Given the description of an element on the screen output the (x, y) to click on. 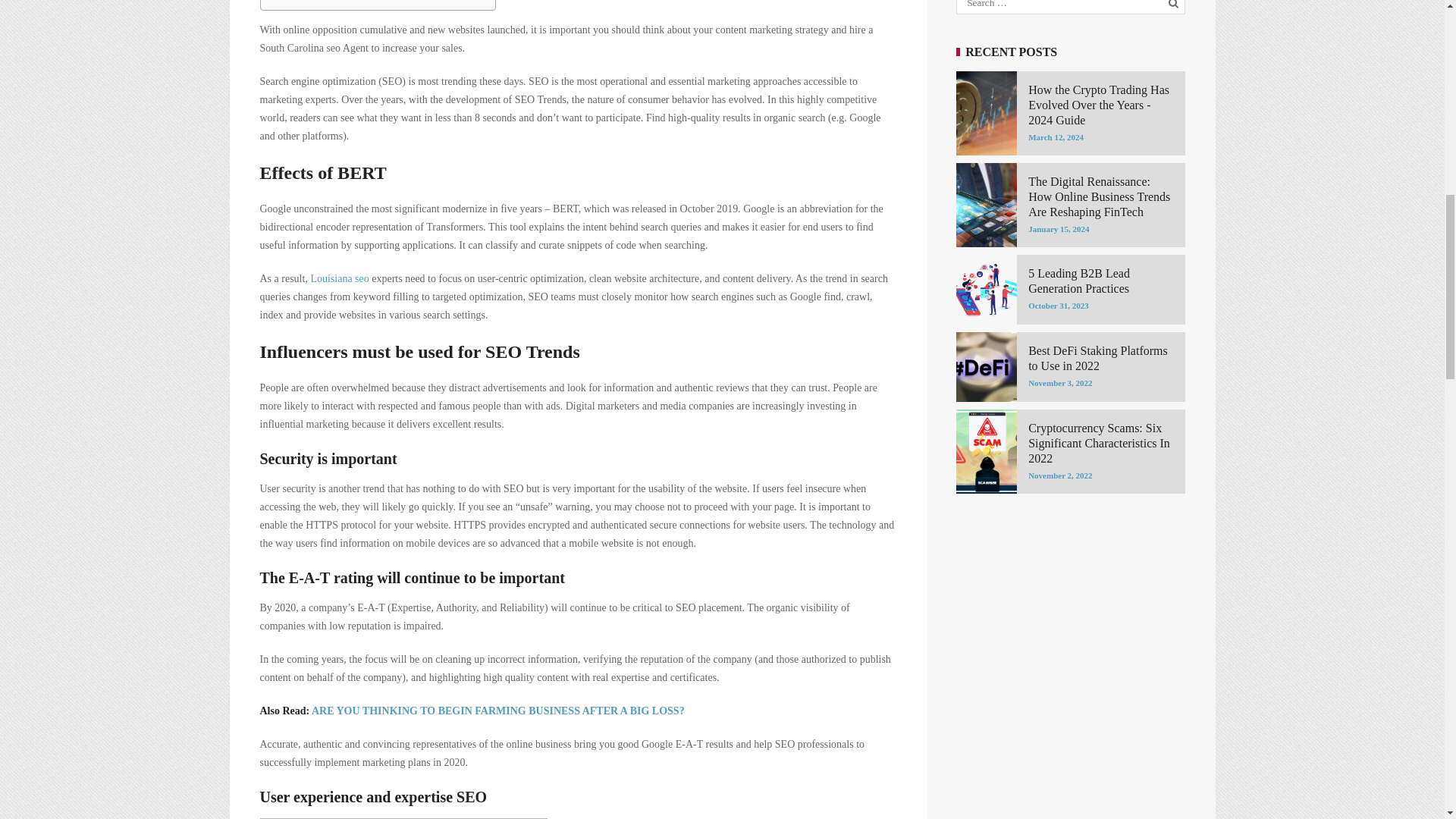
Search (1174, 6)
Search (1174, 6)
